Given the description of an element on the screen output the (x, y) to click on. 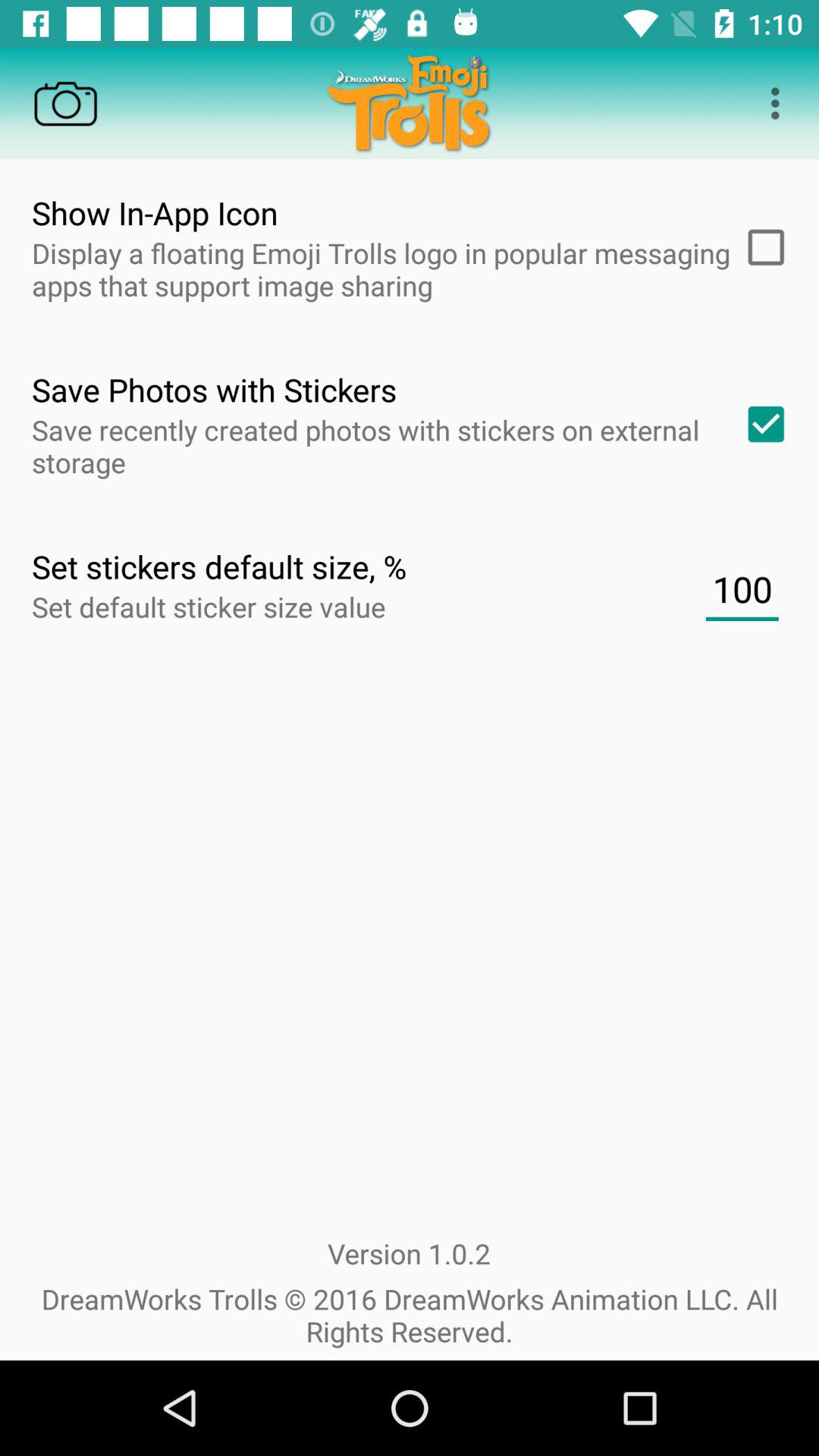
select the icon below the display a floating (760, 424)
